Given the description of an element on the screen output the (x, y) to click on. 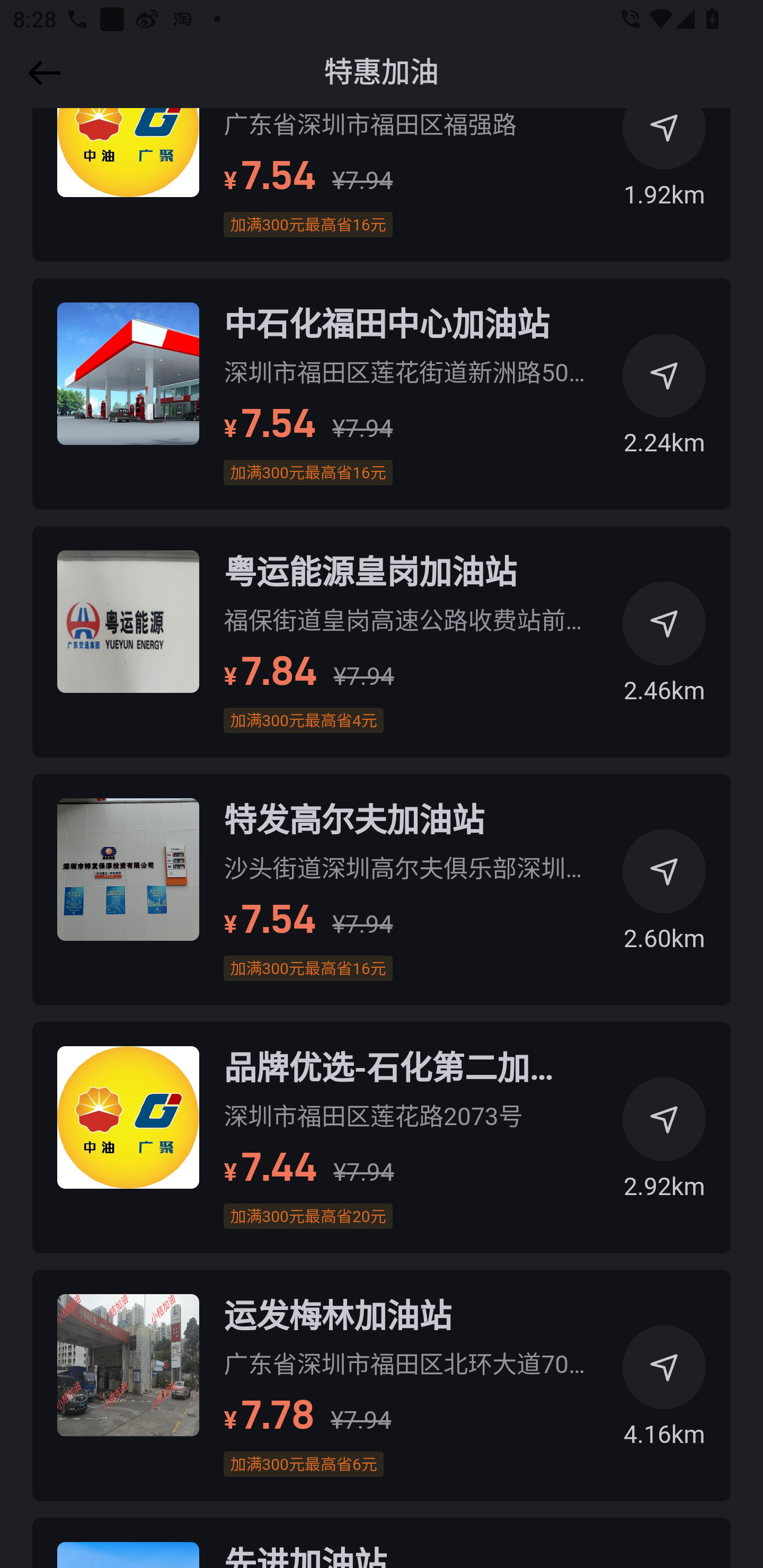
特惠加油 (381, 72)
1.92km (664, 154)
2.24km (664, 401)
2.46km (664, 649)
2.60km (664, 897)
2.92km (664, 1145)
4.16km (664, 1392)
